Given the description of an element on the screen output the (x, y) to click on. 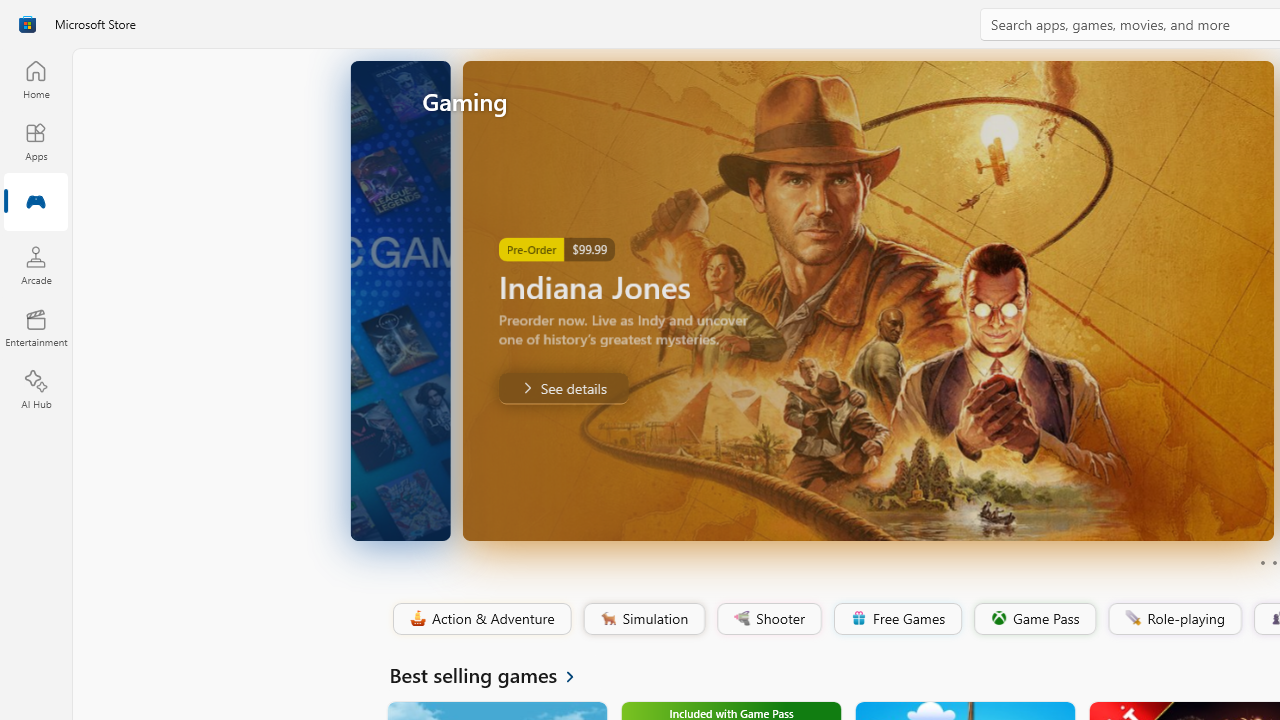
AI Hub (35, 390)
Home (35, 79)
Simulation (643, 619)
Role-playing (1174, 619)
AutomationID: Image (815, 300)
See all  Best selling games (493, 674)
Action & Adventure (480, 619)
Page 2 (1274, 562)
Gaming (35, 203)
Entertainment (35, 327)
Page 1 (1261, 562)
Shooter (767, 619)
Apps (35, 141)
Class: Image (1132, 617)
